Given the description of an element on the screen output the (x, y) to click on. 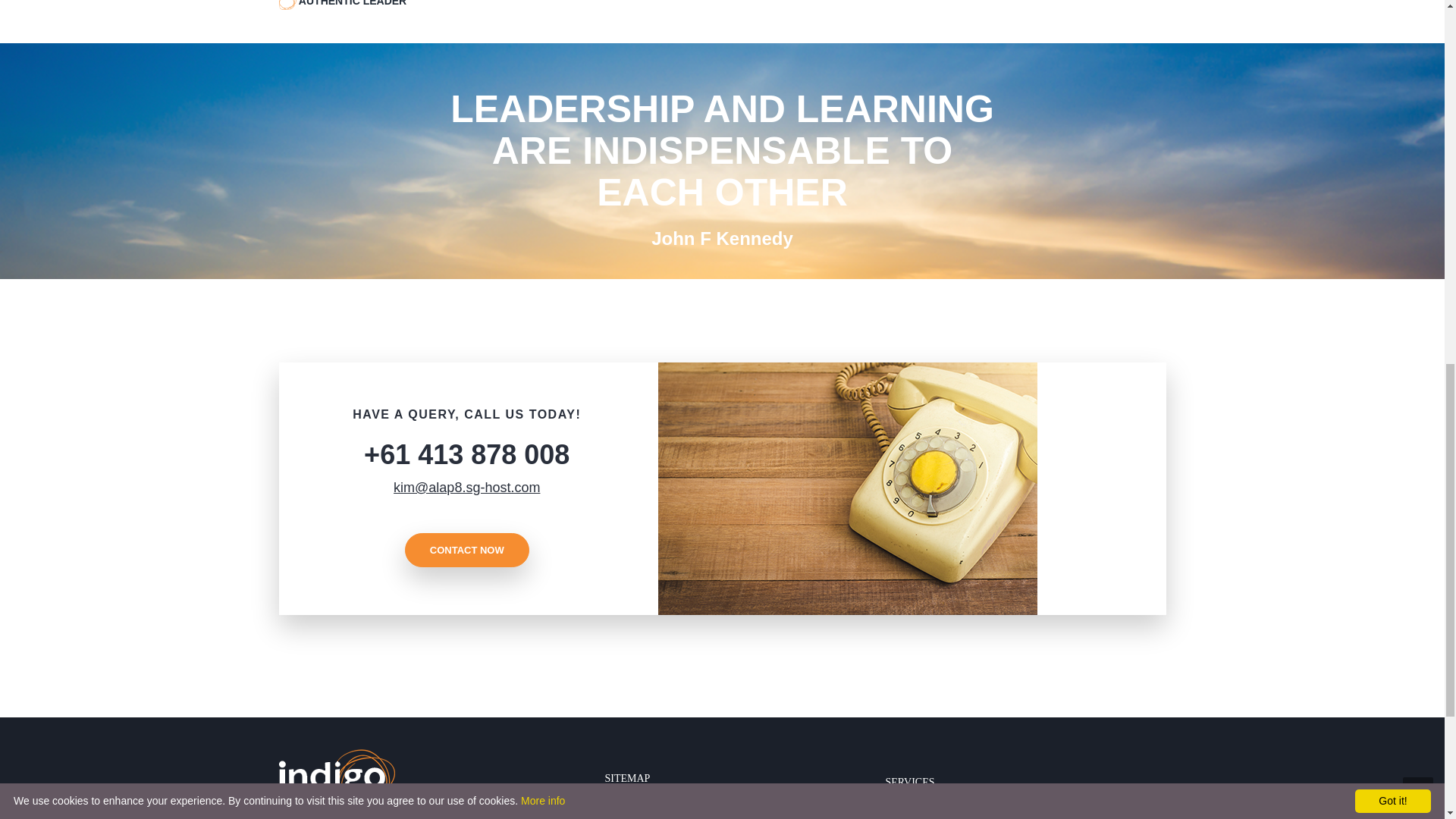
How We Get Involved (797, 810)
About Indigo (668, 810)
CONTACT NOW (466, 550)
HAVE A QUERY, CALL US TODAY! (466, 413)
